Given the description of an element on the screen output the (x, y) to click on. 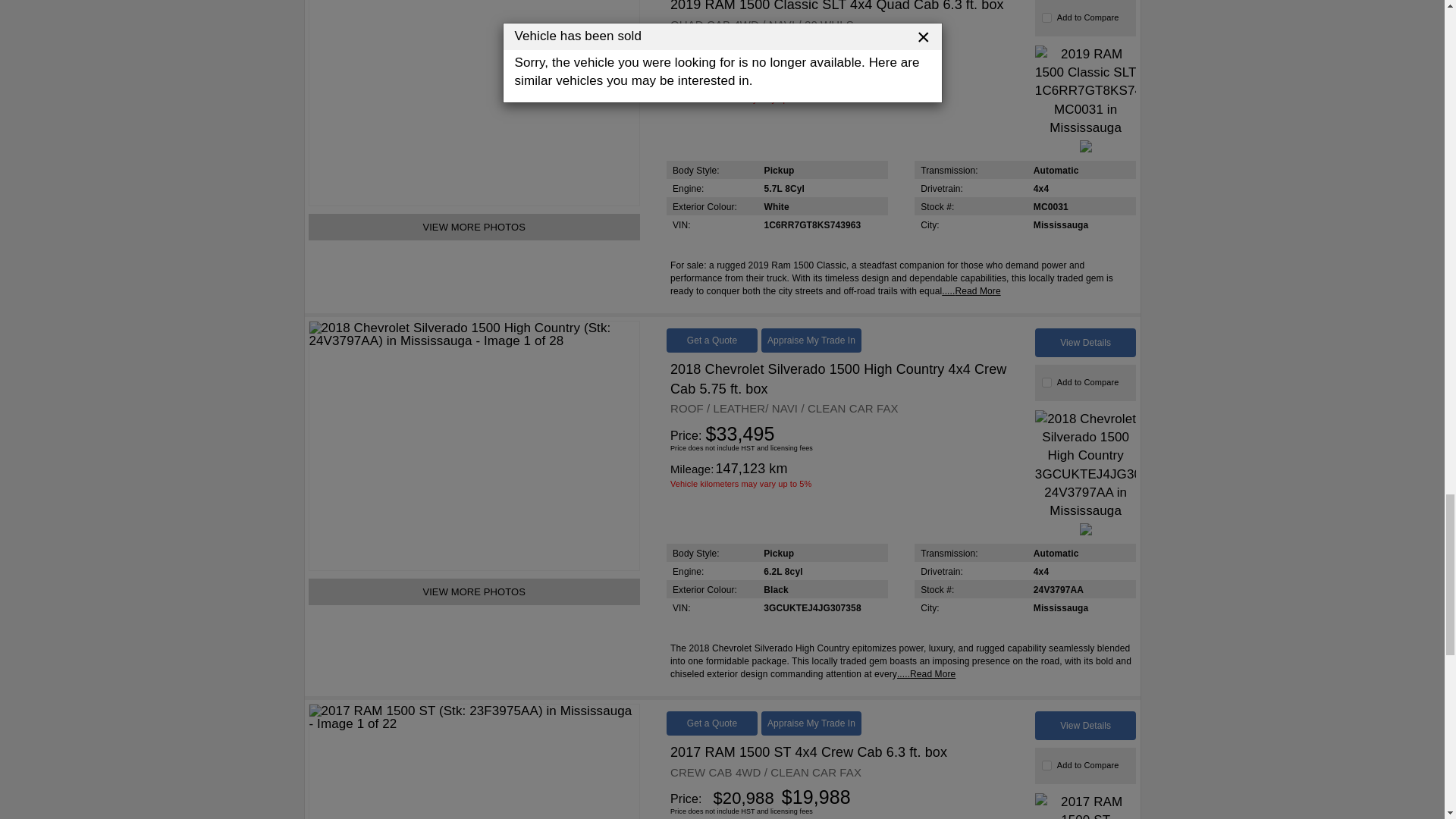
unchecked (1046, 17)
unchecked (1046, 765)
unchecked (1046, 382)
